Given the description of an element on the screen output the (x, y) to click on. 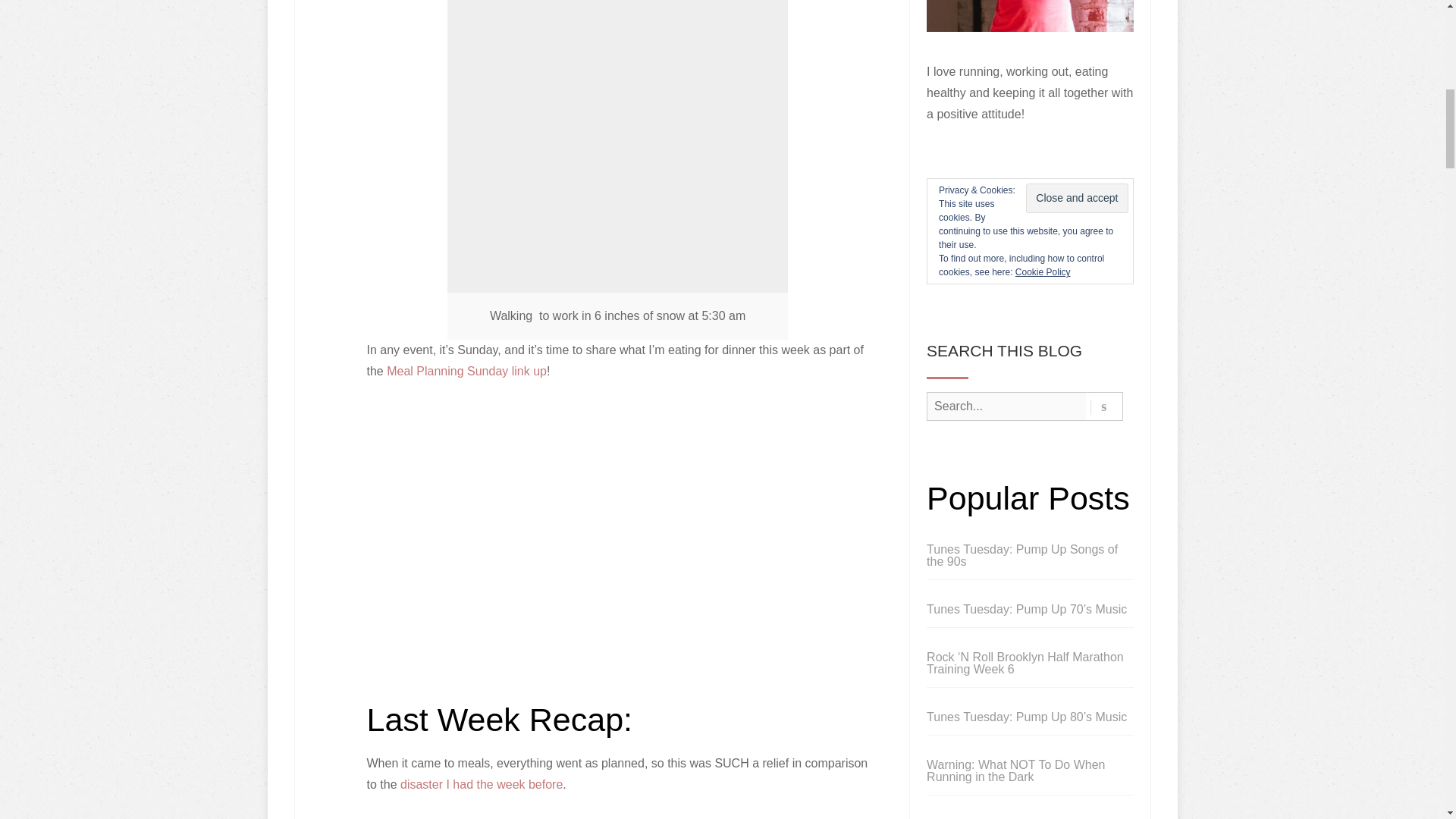
disaster I had the week before (481, 784)
Meal Planning Sunday link up (467, 369)
Close and accept (1076, 197)
